Given the description of an element on the screen output the (x, y) to click on. 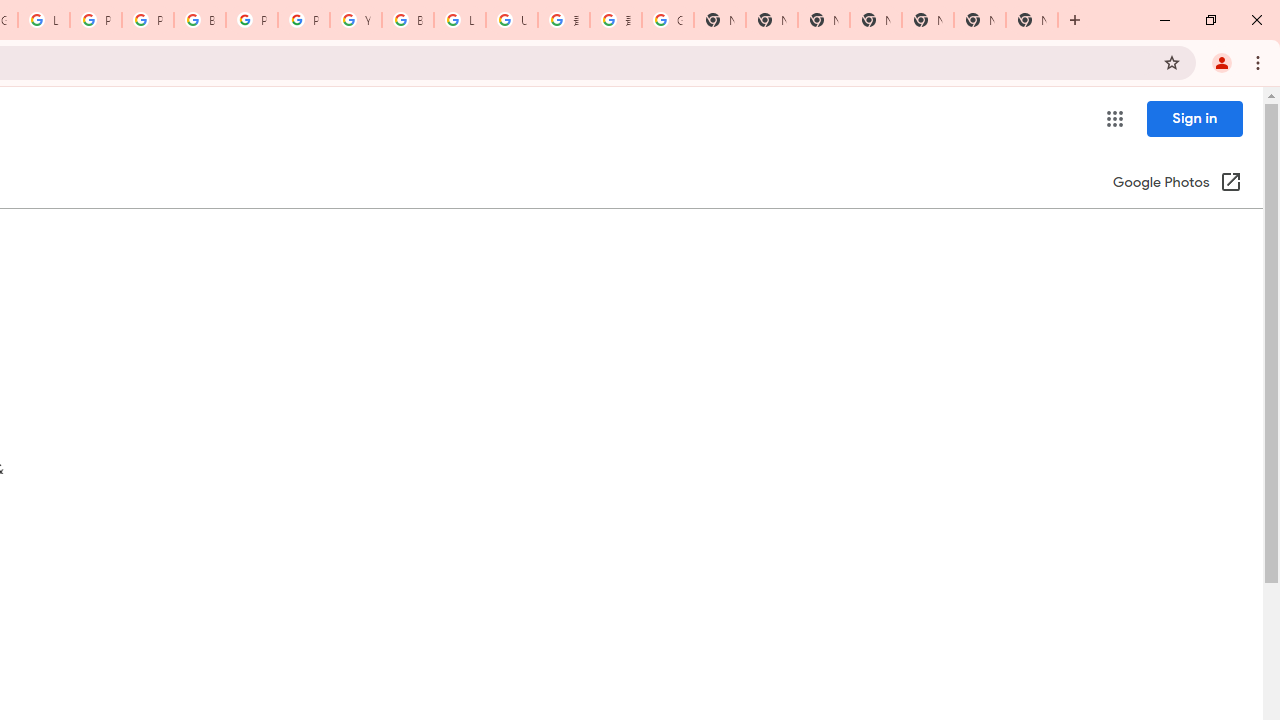
Google apps (1114, 118)
Privacy Help Center - Policies Help (147, 20)
Sign in (1194, 118)
Google Images (667, 20)
Google Photos (Open in a new window) (1177, 183)
